Given the description of an element on the screen output the (x, y) to click on. 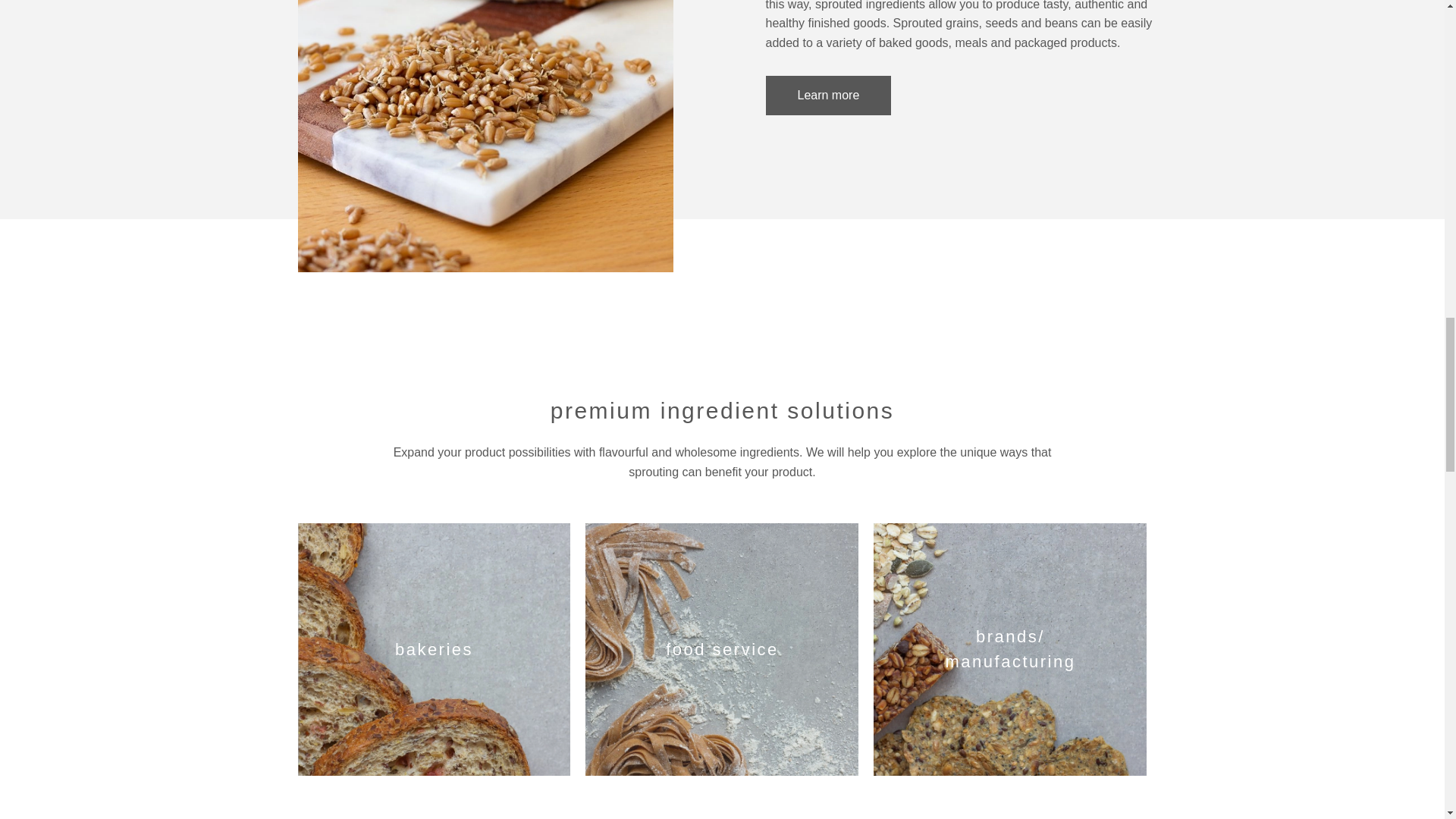
Learn more (828, 95)
bakeries (433, 649)
food service (721, 649)
